Given the description of an element on the screen output the (x, y) to click on. 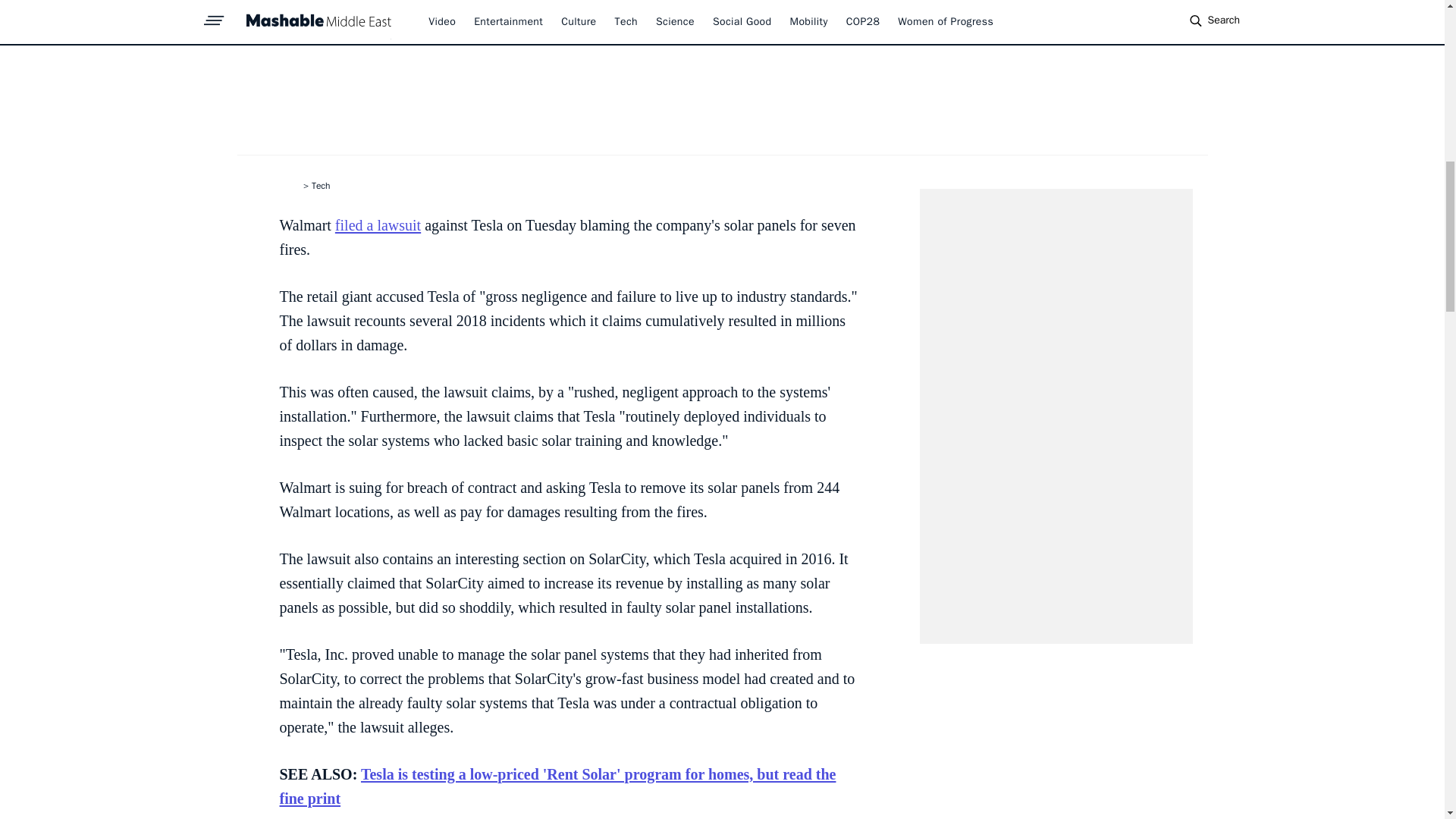
filed a lawsuit (377, 225)
